Given the description of an element on the screen output the (x, y) to click on. 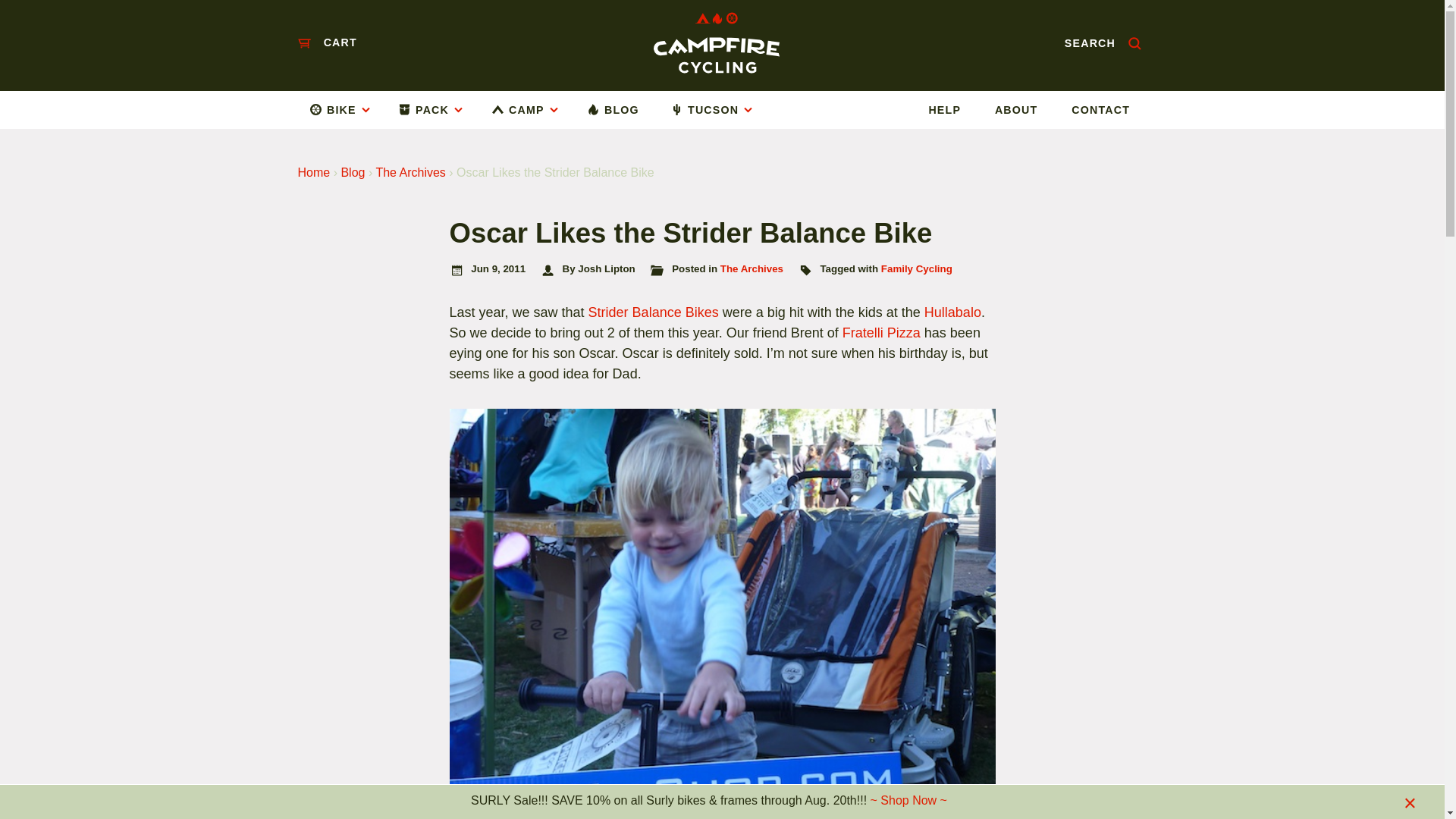
to home page (715, 42)
SEARCH (1102, 42)
CART (326, 42)
BIKE (346, 109)
